Given the description of an element on the screen output the (x, y) to click on. 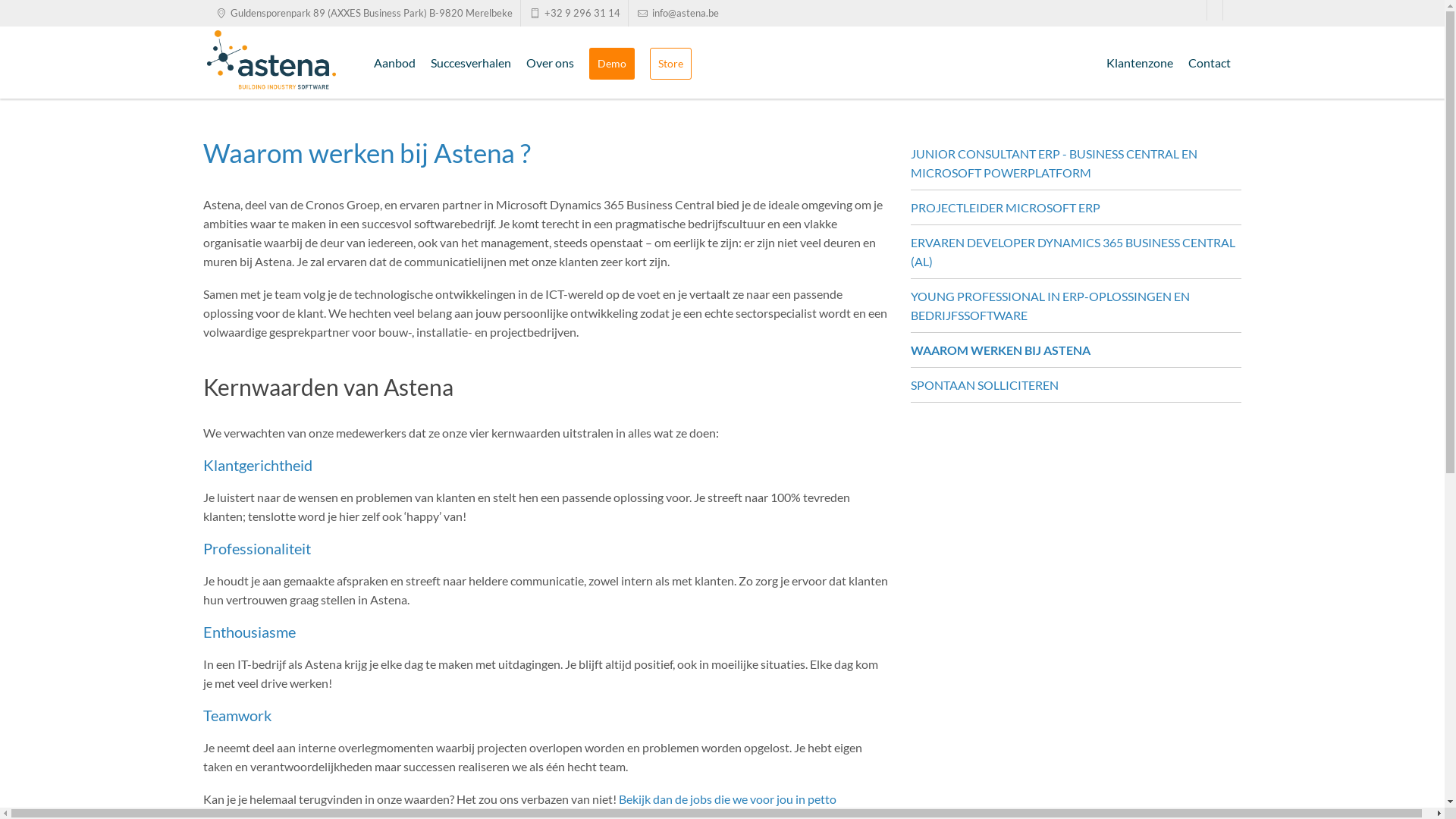
+32 9 296 31 14 Element type: text (574, 12)
Contact Element type: text (1208, 62)
Bekijk dan de jobs die we voor jou in petto Element type: text (727, 798)
info@astena.be Element type: text (677, 12)
PROJECTLEIDER MICROSOFT ERP Element type: text (1076, 207)
ERVAREN DEVELOPER DYNAMICS 365 BUSINESS CENTRAL (AL) Element type: text (1076, 251)
YOUNG PROFESSIONAL IN ERP-OPLOSSINGEN EN BEDRIJFSSOFTWARE Element type: text (1076, 305)
Aanbod Element type: text (393, 62)
SPONTAAN SOLLICITEREN Element type: text (1076, 384)
Succesverhalen Element type: text (470, 62)
Klantenzone Element type: text (1138, 62)
Guldensporenpark 89 (AXXES Business Park) B-9820 Merelbeke Element type: text (362, 12)
Over ons Element type: text (549, 62)
WAAROM WERKEN BIJ ASTENA Element type: text (1076, 349)
Store Element type: text (669, 63)
